Given the description of an element on the screen output the (x, y) to click on. 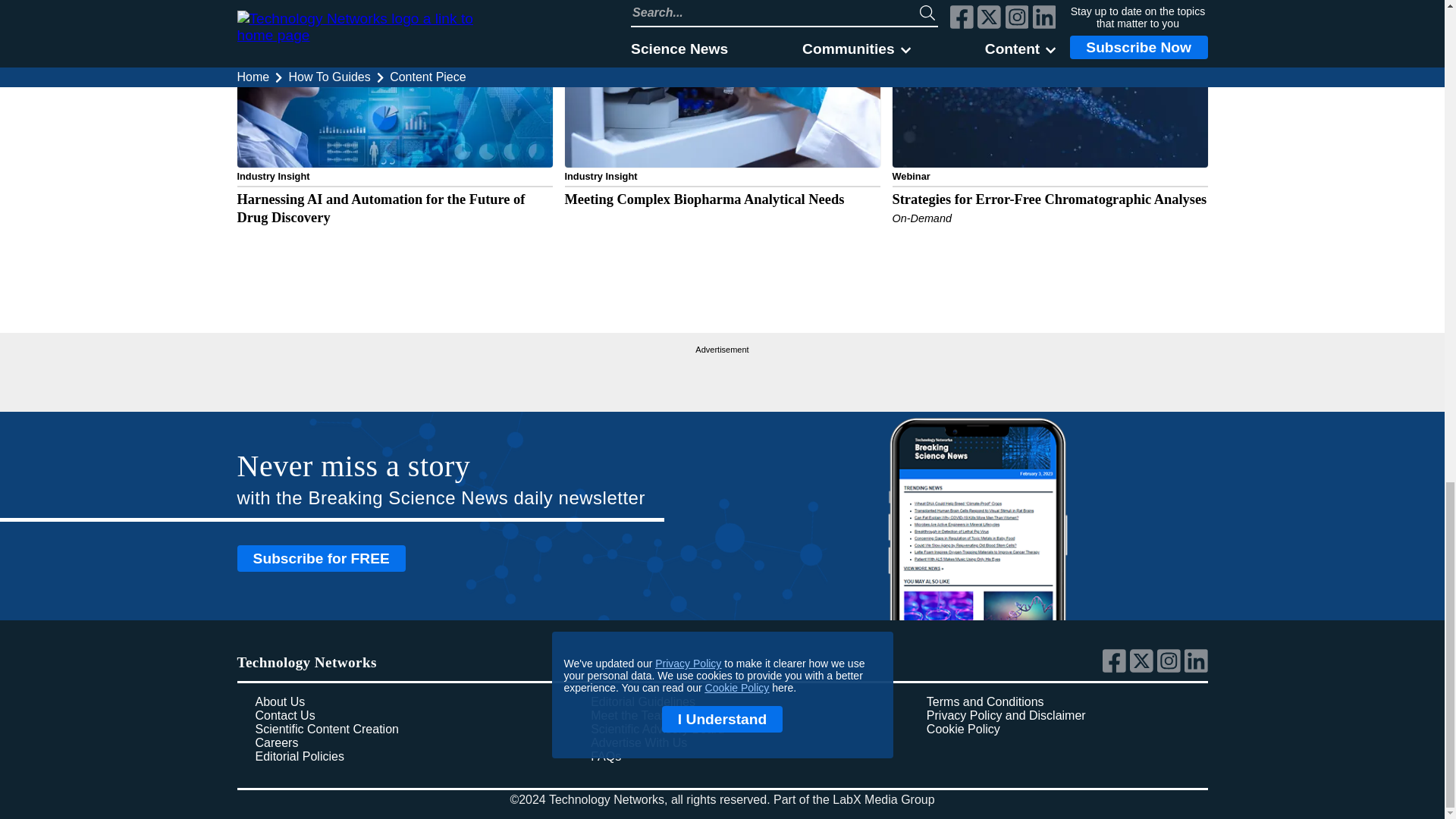
Link to Technology Networks' twitter page (1143, 668)
Link to Technology Networks' instagram page (1171, 668)
Link to Technology Networks' facebook page (1115, 668)
3rd party ad content (721, 376)
Link to Technology Networks' linkedin page (1196, 668)
Click to view "Meeting Complex Biopharma Analytical Needs" (721, 130)
